Given the description of an element on the screen output the (x, y) to click on. 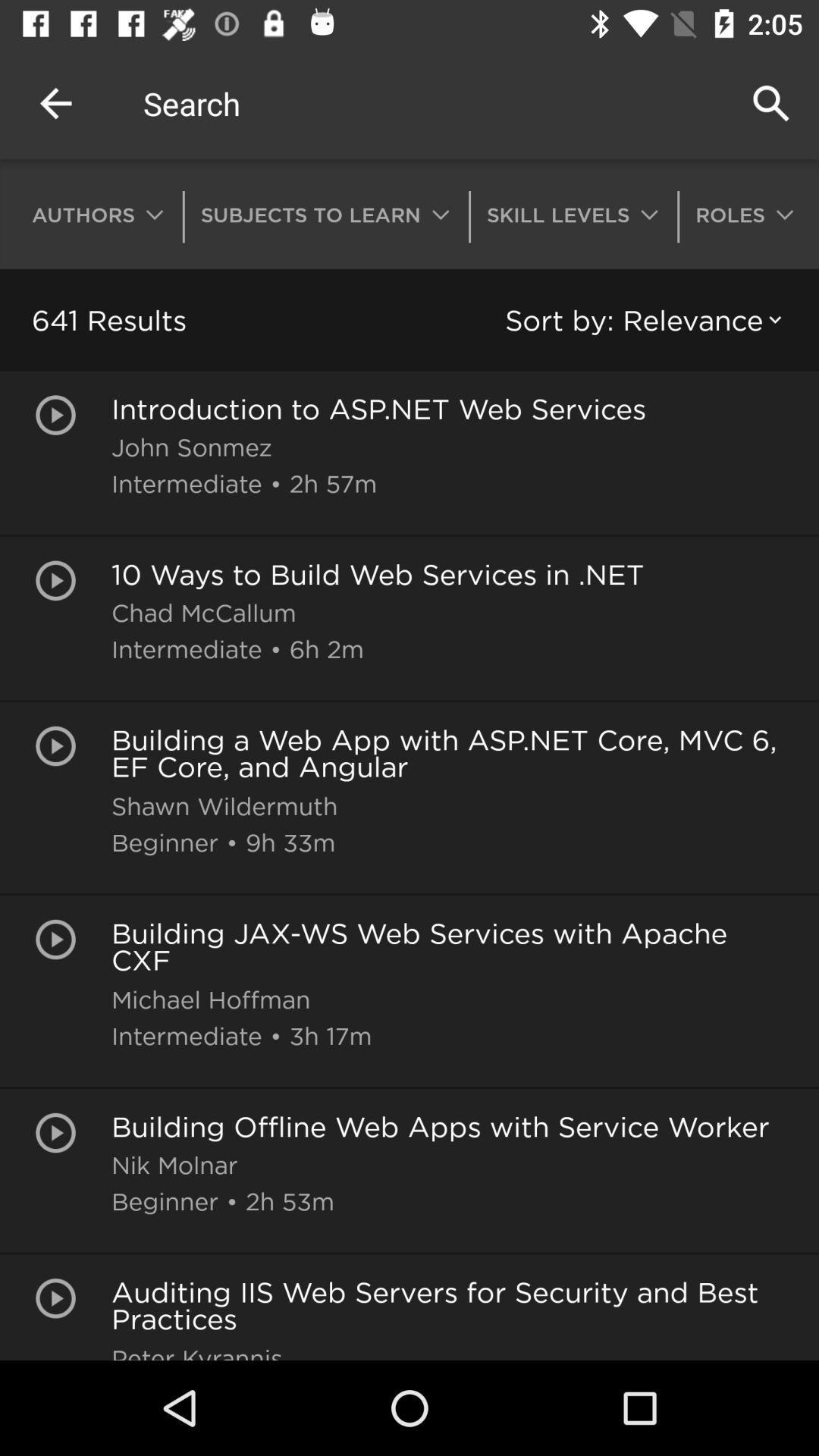
launch the app next to search icon (55, 103)
